Given the description of an element on the screen output the (x, y) to click on. 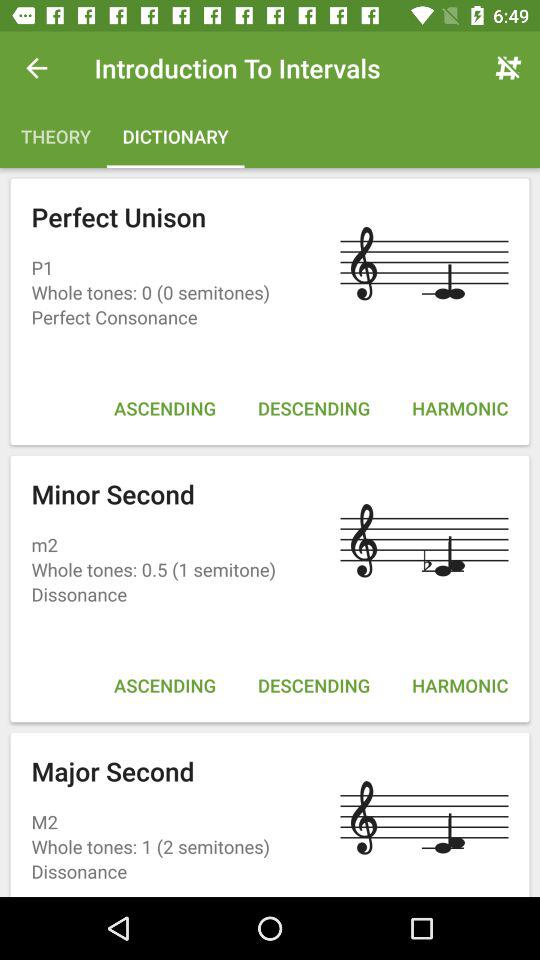
choose the item above theory item (36, 68)
